Given the description of an element on the screen output the (x, y) to click on. 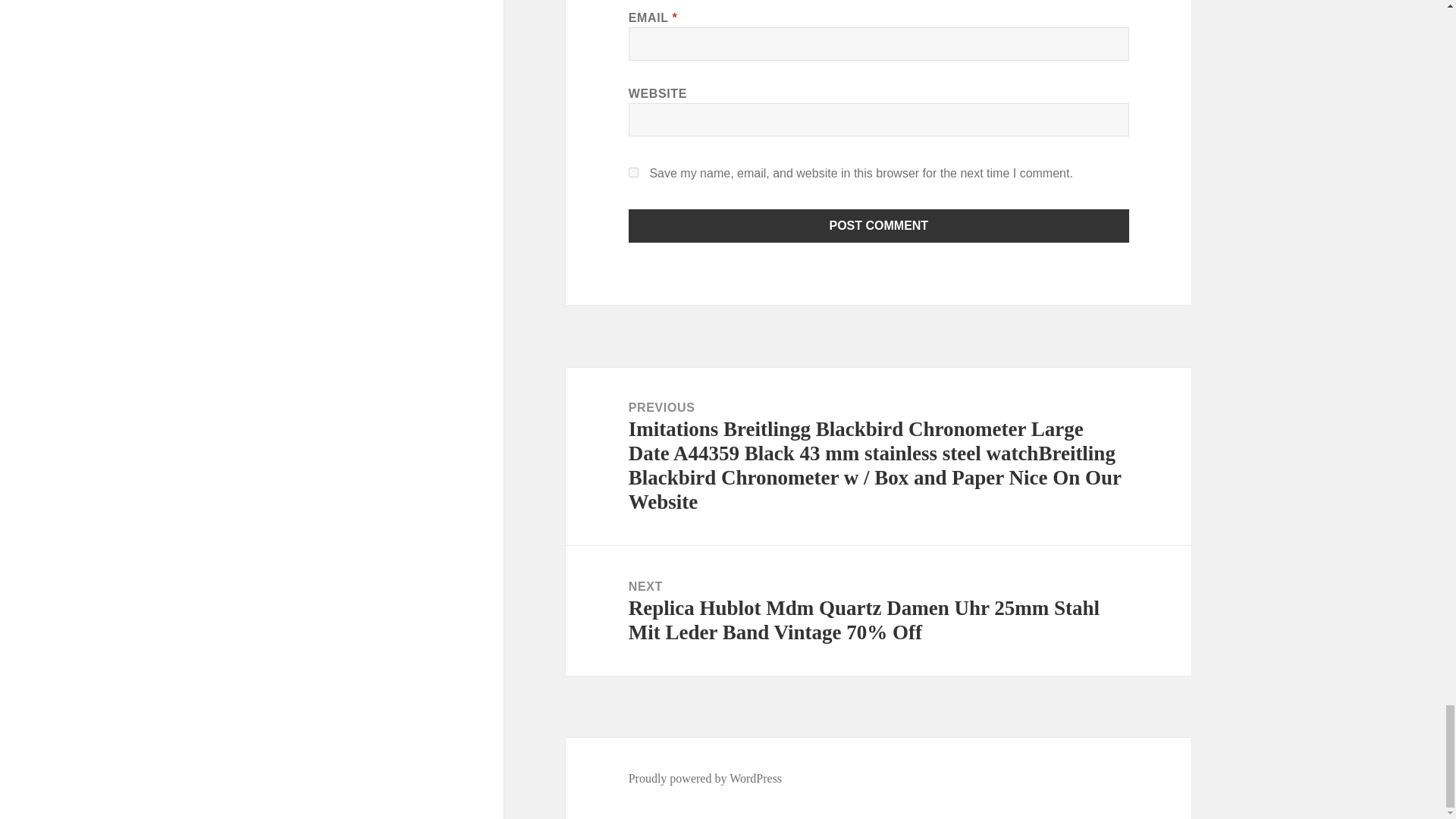
Post Comment (878, 225)
Post Comment (878, 225)
yes (633, 172)
